Given the description of an element on the screen output the (x, y) to click on. 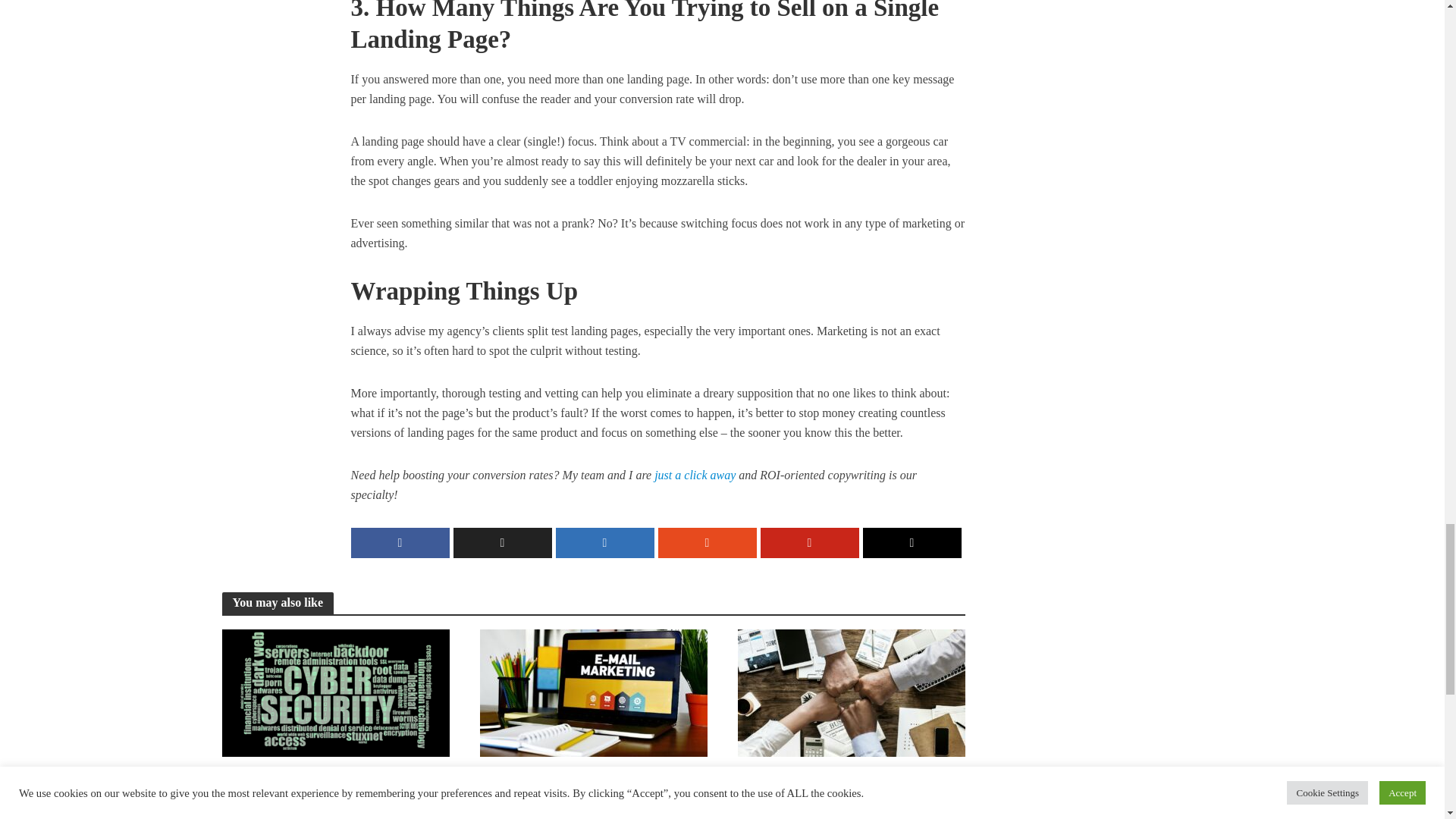
What is the Best Time to Send an Email? (592, 690)
